Given the description of an element on the screen output the (x, y) to click on. 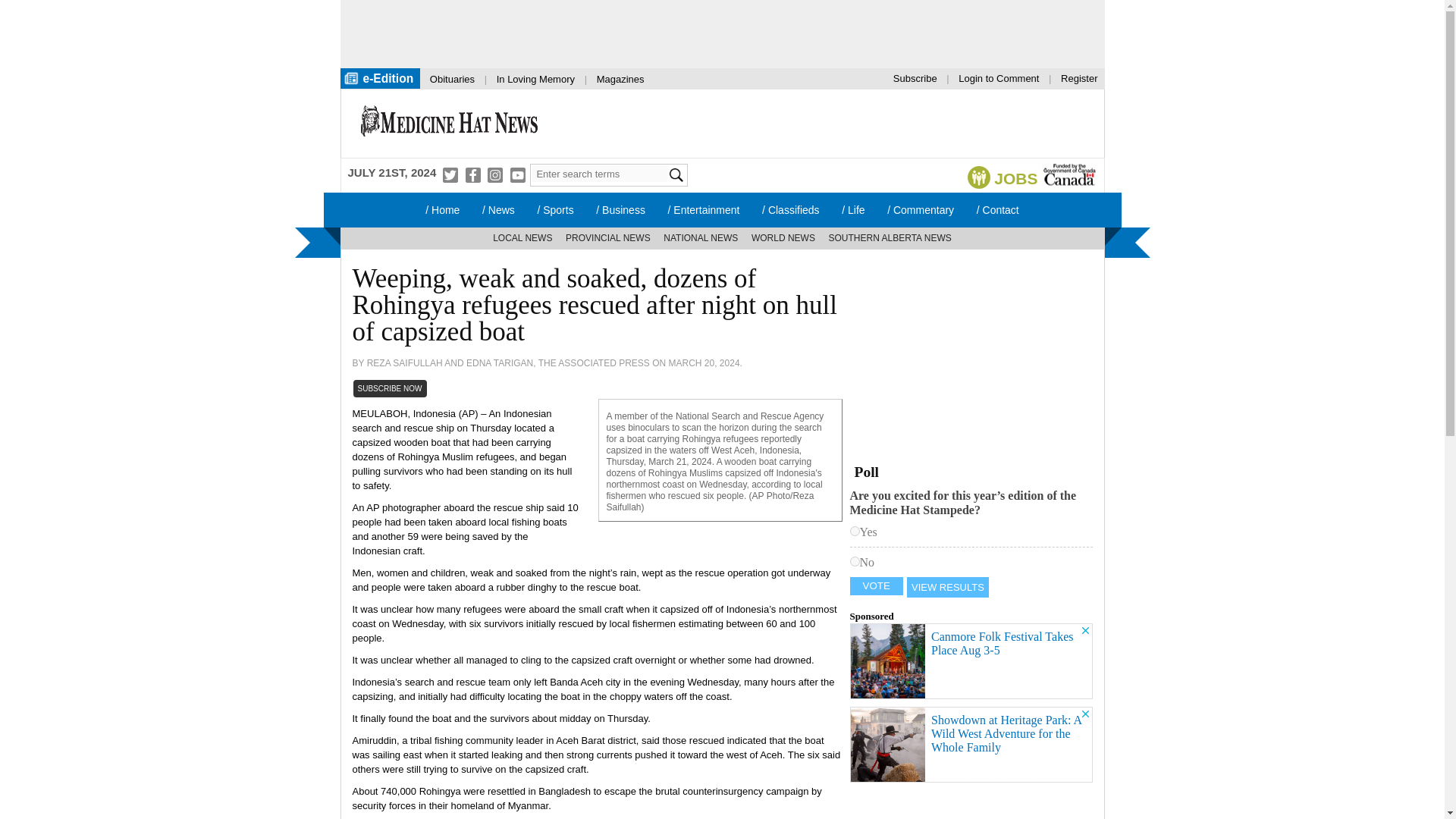
Life (853, 209)
Entertainment (703, 209)
Register (1078, 77)
3rd party ad content (827, 123)
Home (441, 209)
PROVINCIAL NEWS (608, 238)
Home (449, 123)
3rd party ad content (707, 33)
e-Edition (379, 77)
News (497, 209)
VIEW RESULTS (947, 587)
Classifieds (790, 209)
Commentary (920, 209)
SOUTHERN ALBERTA NEWS (890, 238)
